Given the description of an element on the screen output the (x, y) to click on. 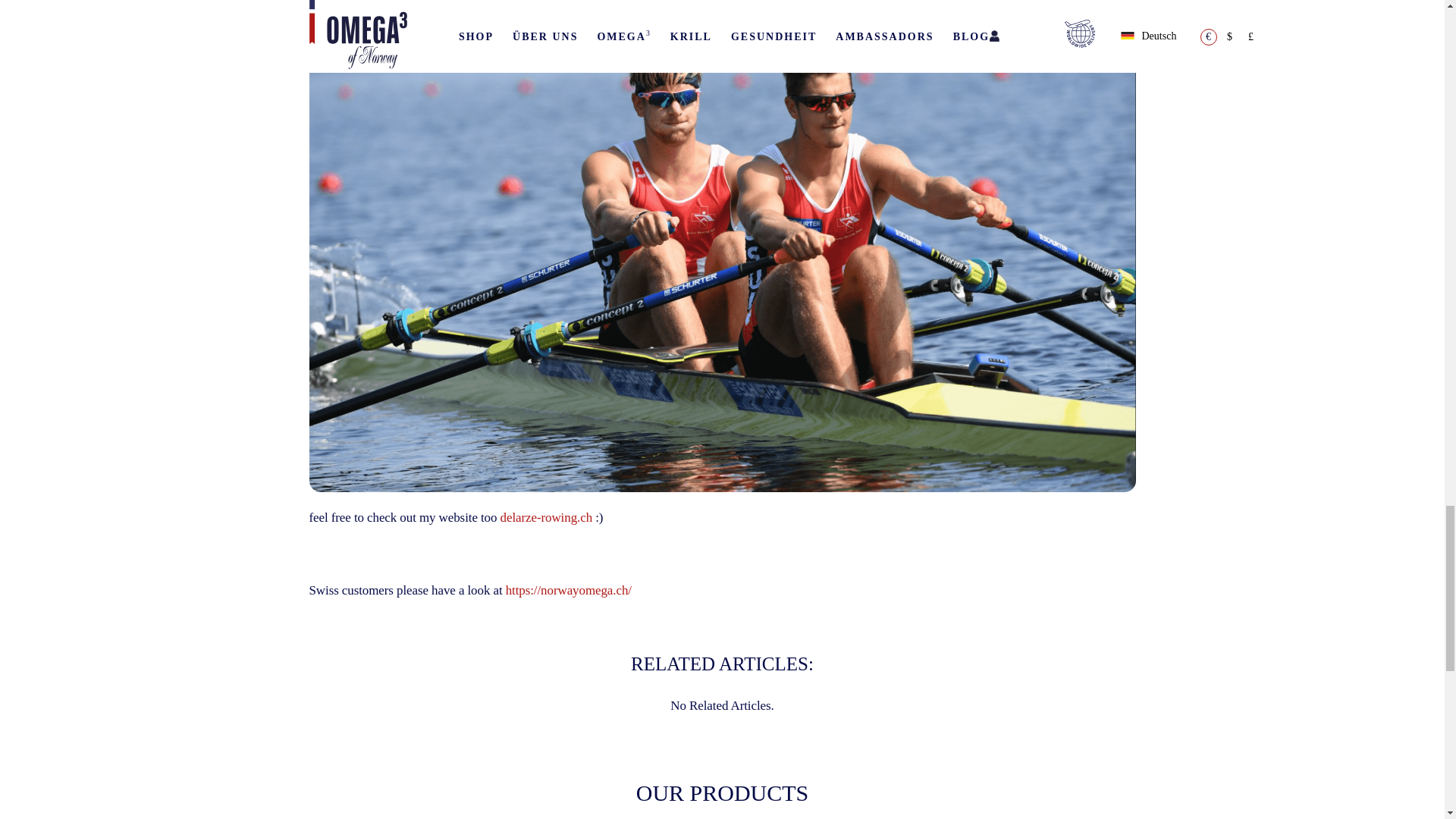
delarze-rowing.ch (546, 517)
